Given the description of an element on the screen output the (x, y) to click on. 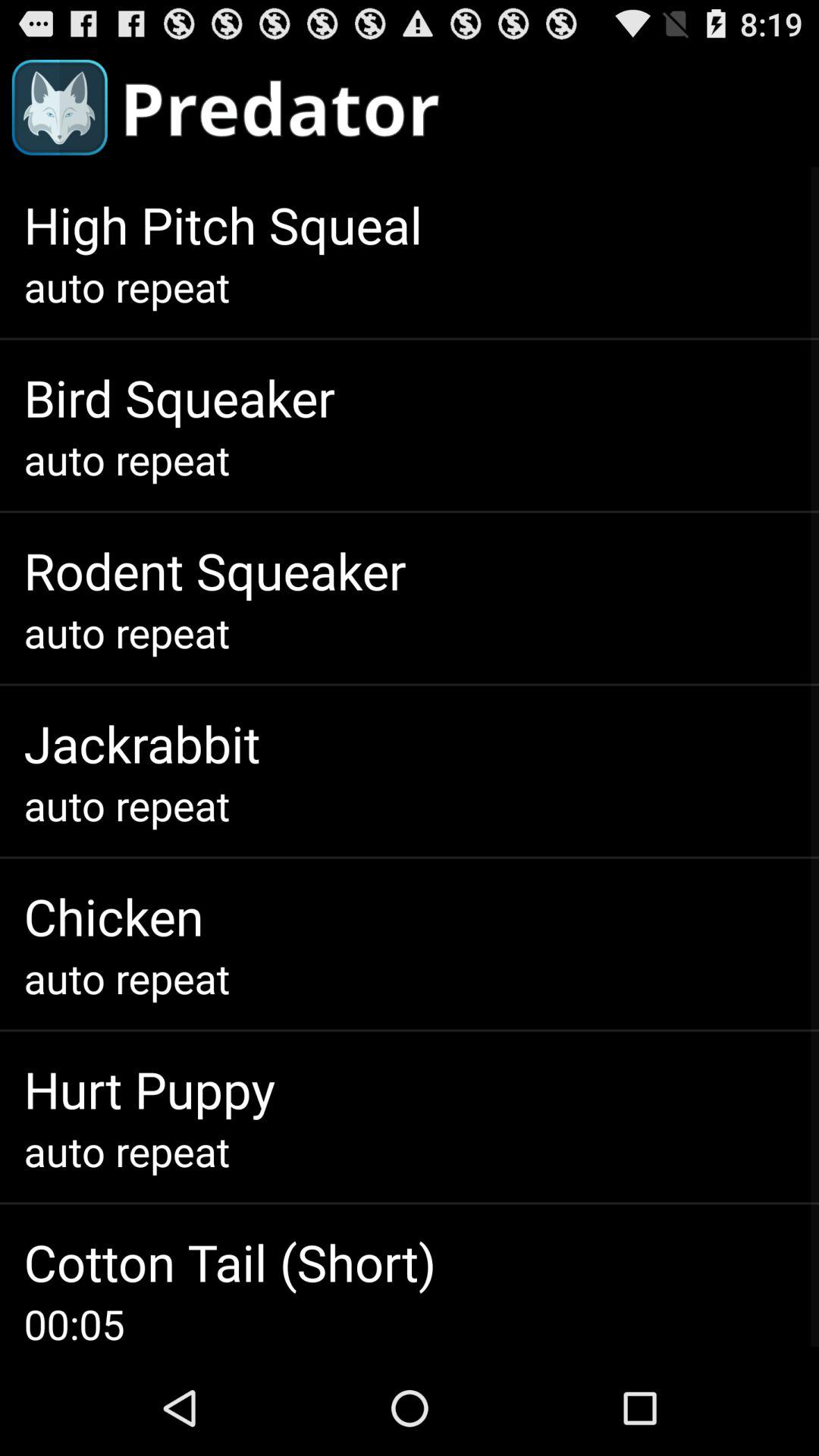
open the bird squeaker item (178, 397)
